Given the description of an element on the screen output the (x, y) to click on. 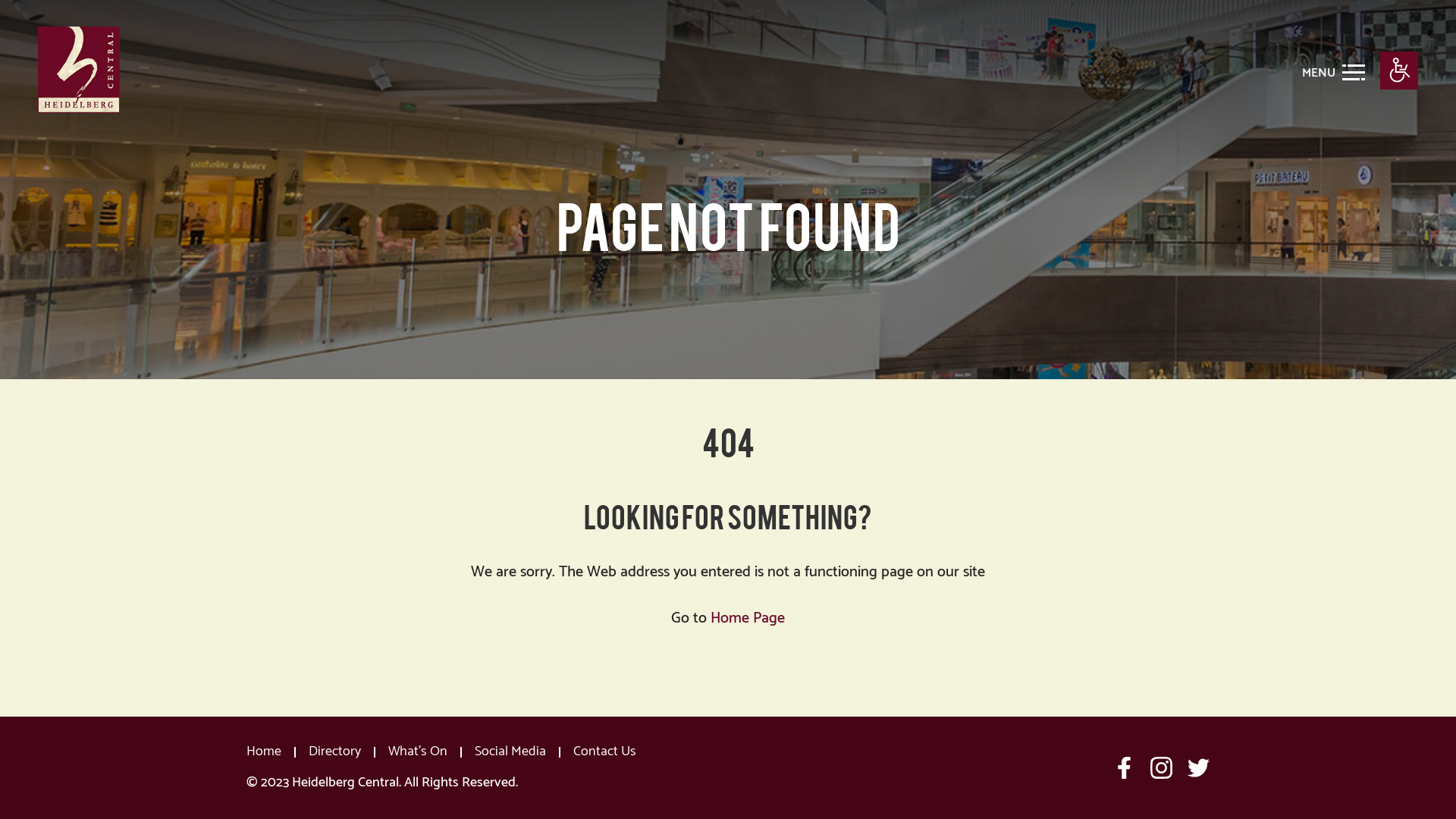
Social Media Element type: text (510, 751)
Contact Us Element type: text (604, 751)
Home Element type: text (263, 751)
Directory Element type: text (334, 751)
Home Page Element type: text (747, 617)
MENU Element type: text (1333, 71)
